Given the description of an element on the screen output the (x, y) to click on. 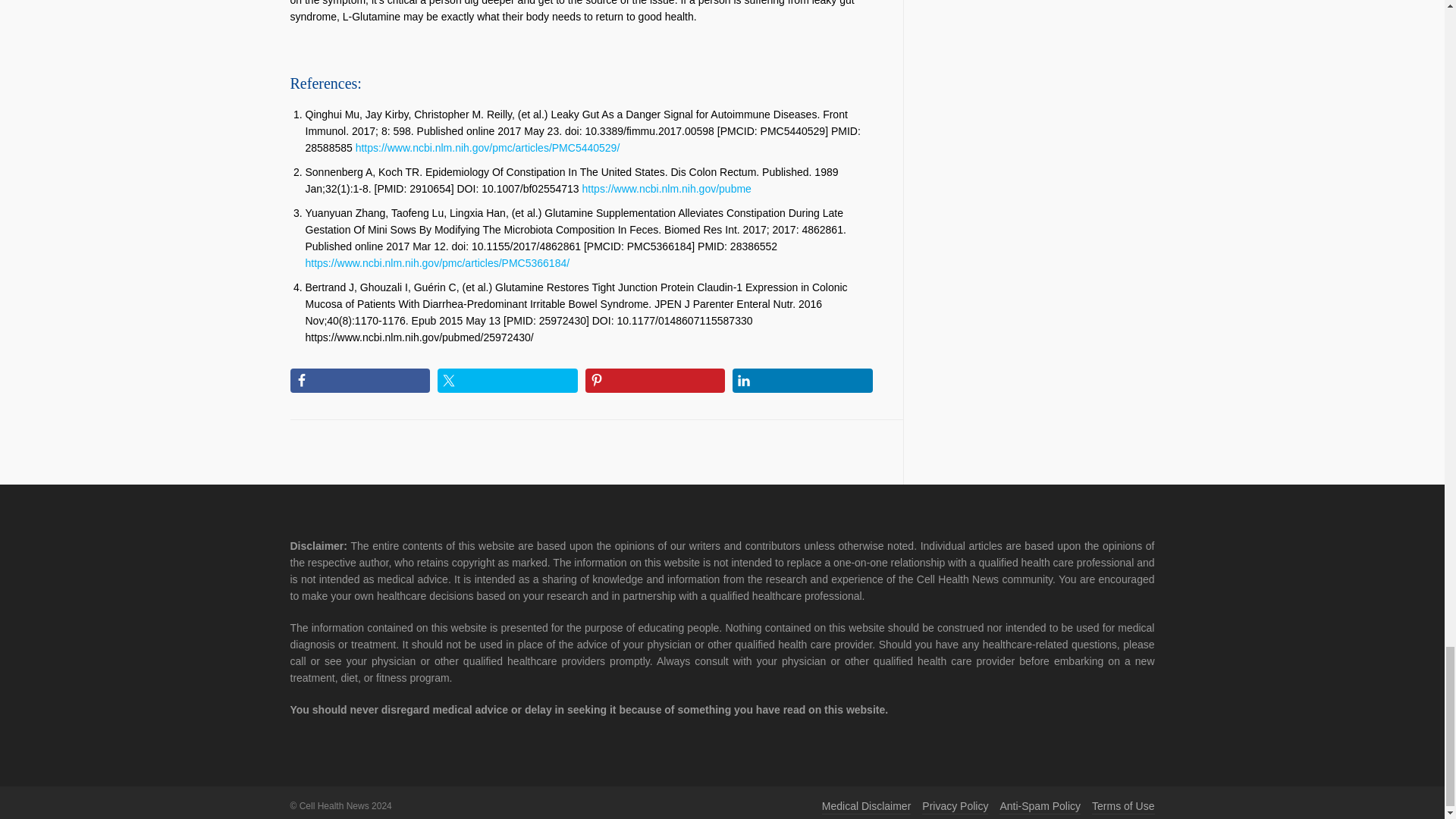
Share on LinkedIn (802, 380)
Share on Pinterest (655, 380)
Share on Facebook (359, 380)
Share on Twitter (508, 380)
